Given the description of an element on the screen output the (x, y) to click on. 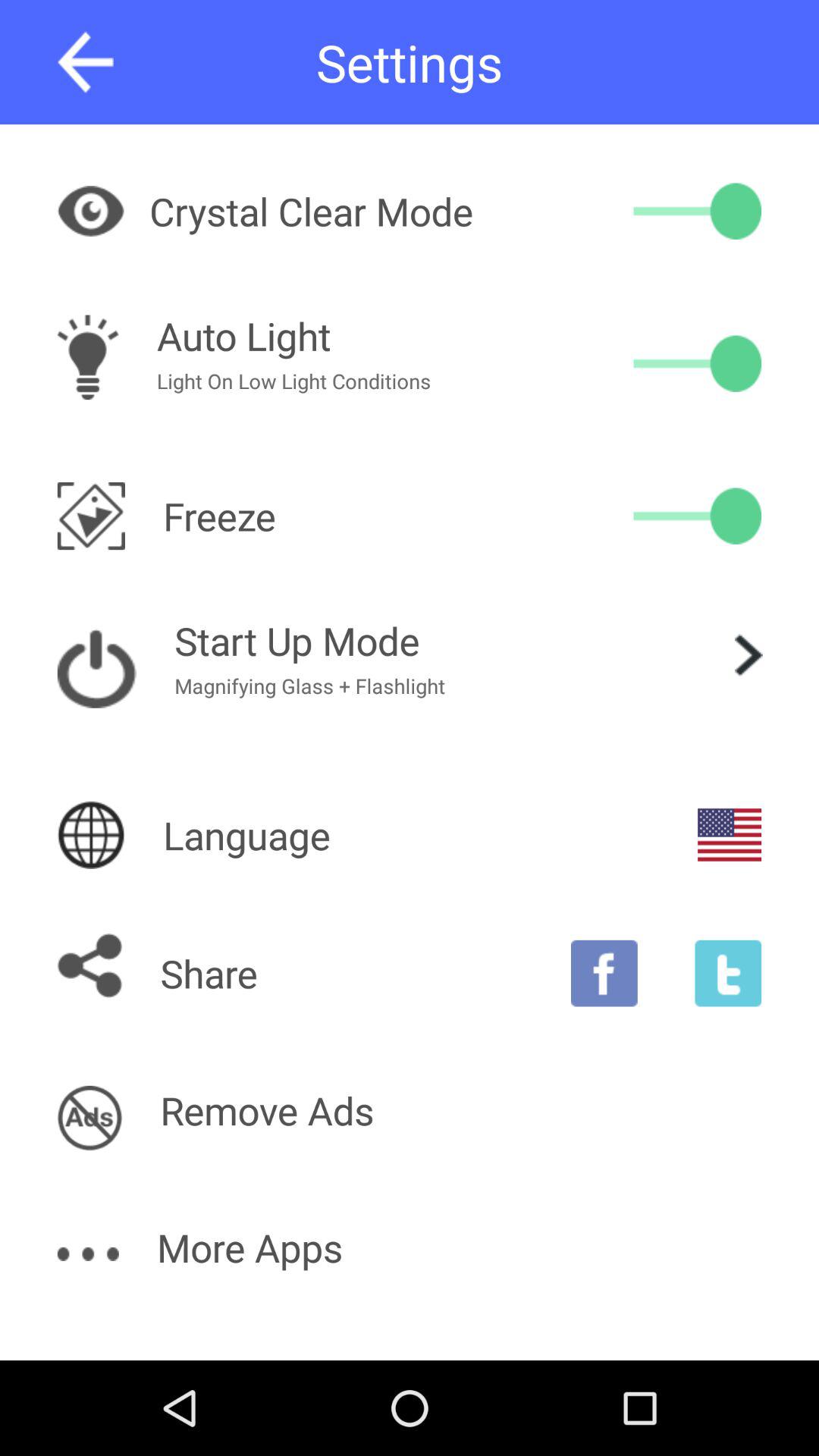
toggle crystal clear mode (697, 211)
